Given the description of an element on the screen output the (x, y) to click on. 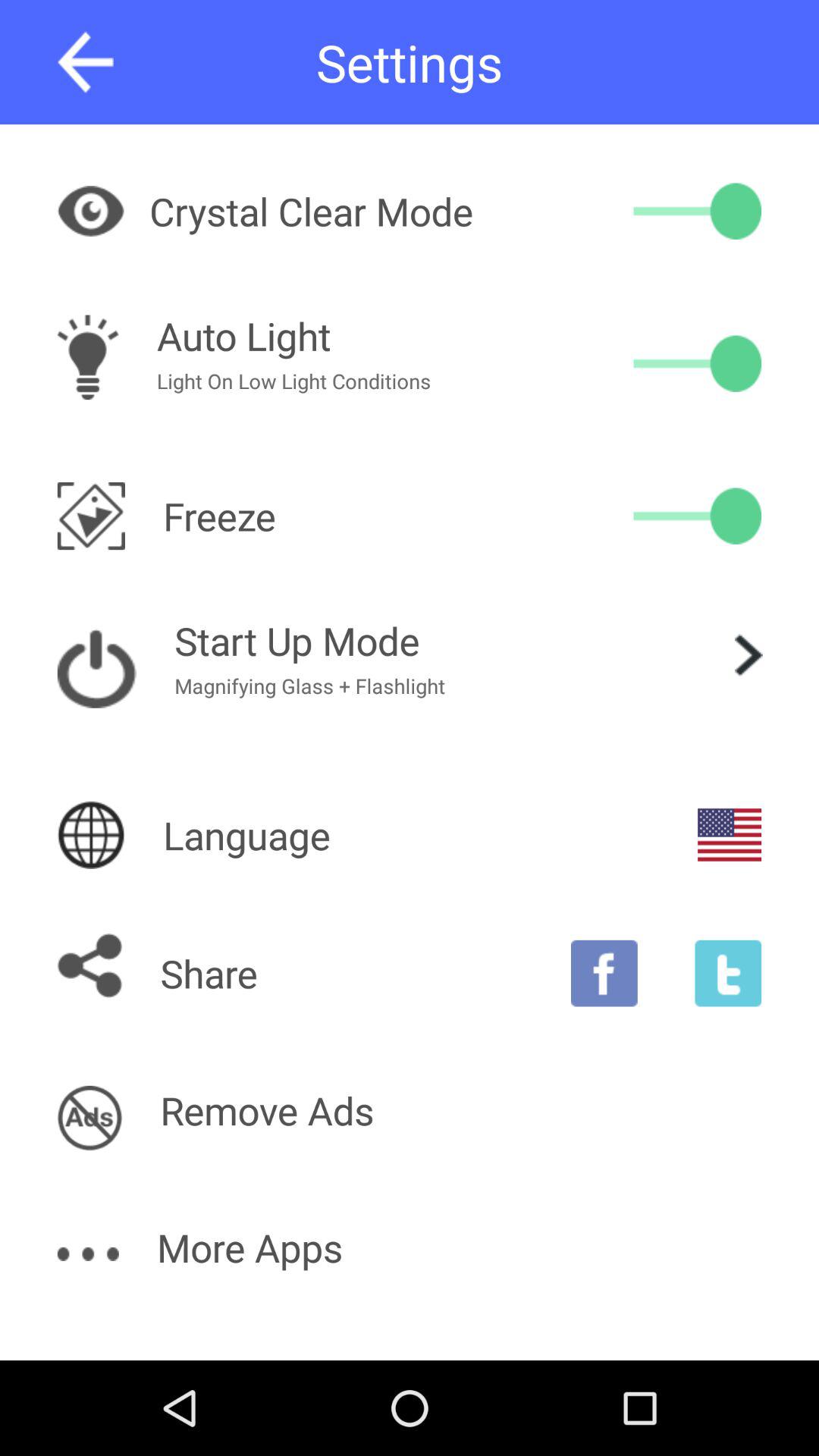
toggle crystal clear mode (697, 211)
